Given the description of an element on the screen output the (x, y) to click on. 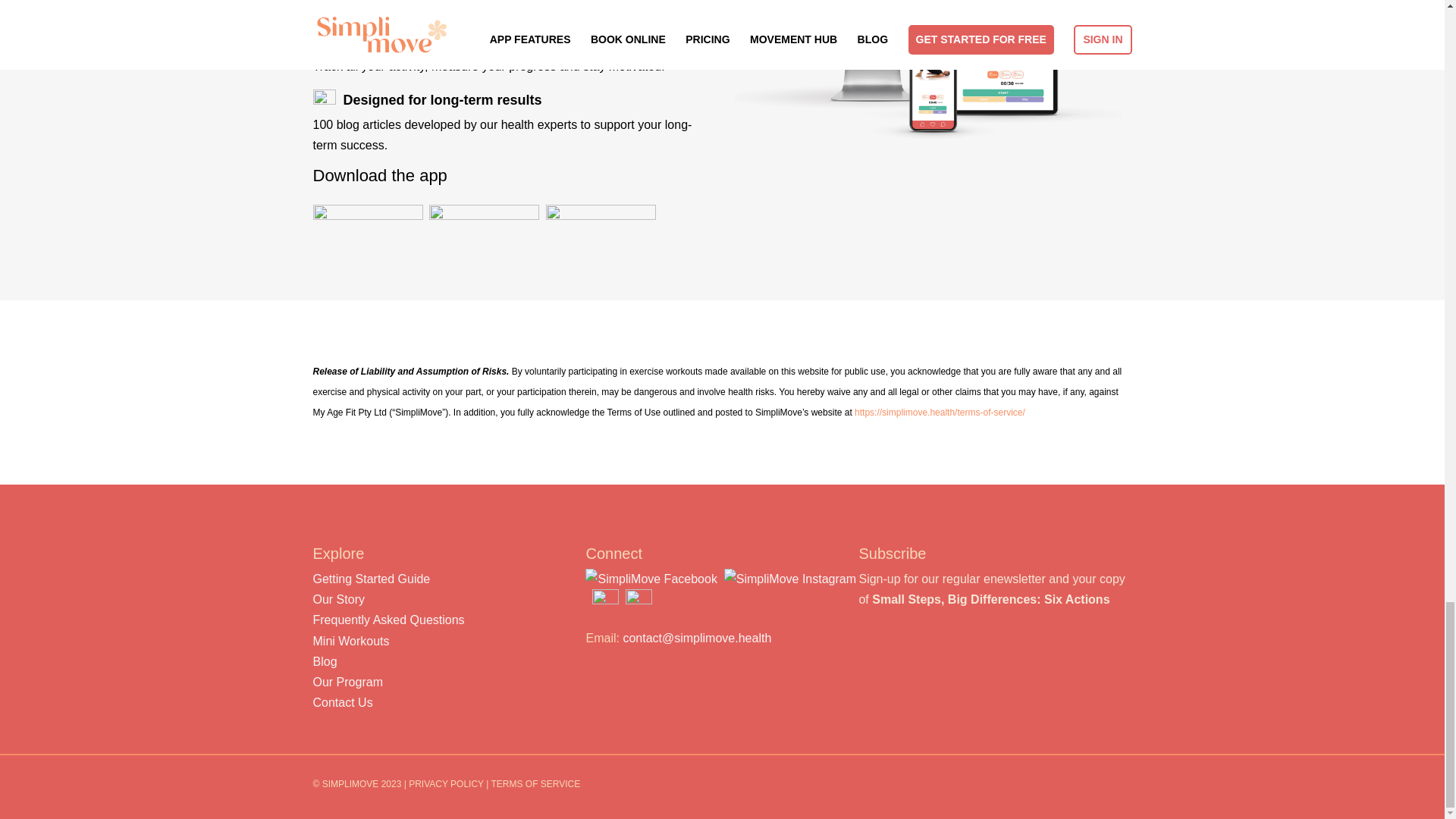
Contact Us (342, 702)
Frequently Asked Questions (388, 619)
Getting Started Guide (371, 578)
Our Program (347, 681)
Our Story (338, 599)
Mini Workouts (350, 640)
PRIVACY POLICY (446, 783)
SimpliMove-app-desktop-and-mobile (933, 74)
Blog (324, 661)
